Given the description of an element on the screen output the (x, y) to click on. 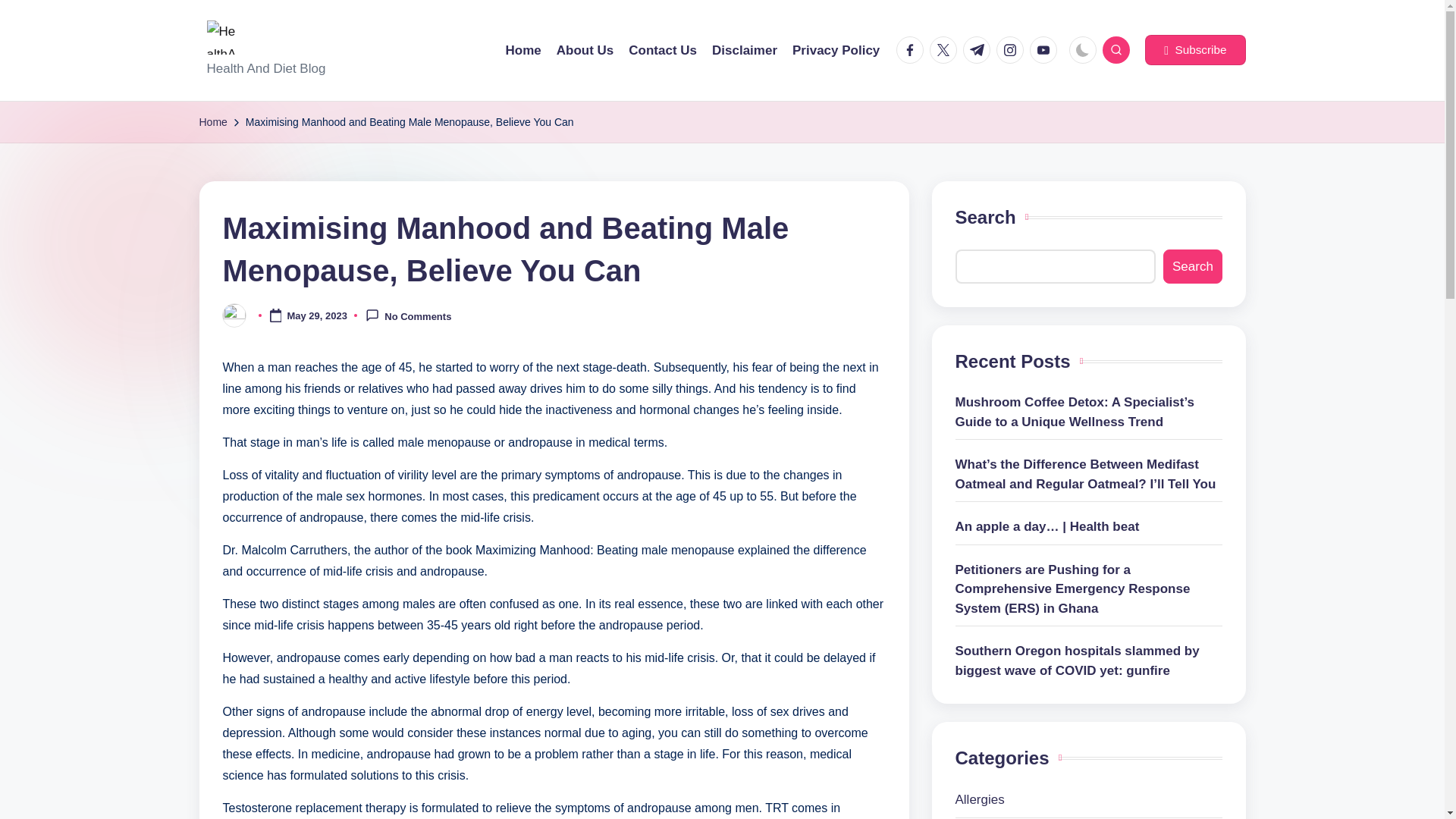
Contact Us (662, 50)
Home (523, 50)
No Comments (408, 315)
Allergies (1089, 799)
Disclaimer (744, 50)
Search (1192, 266)
facebook.com (913, 49)
twitter.com (946, 49)
t.me (978, 49)
Privacy Policy (835, 50)
